Given the description of an element on the screen output the (x, y) to click on. 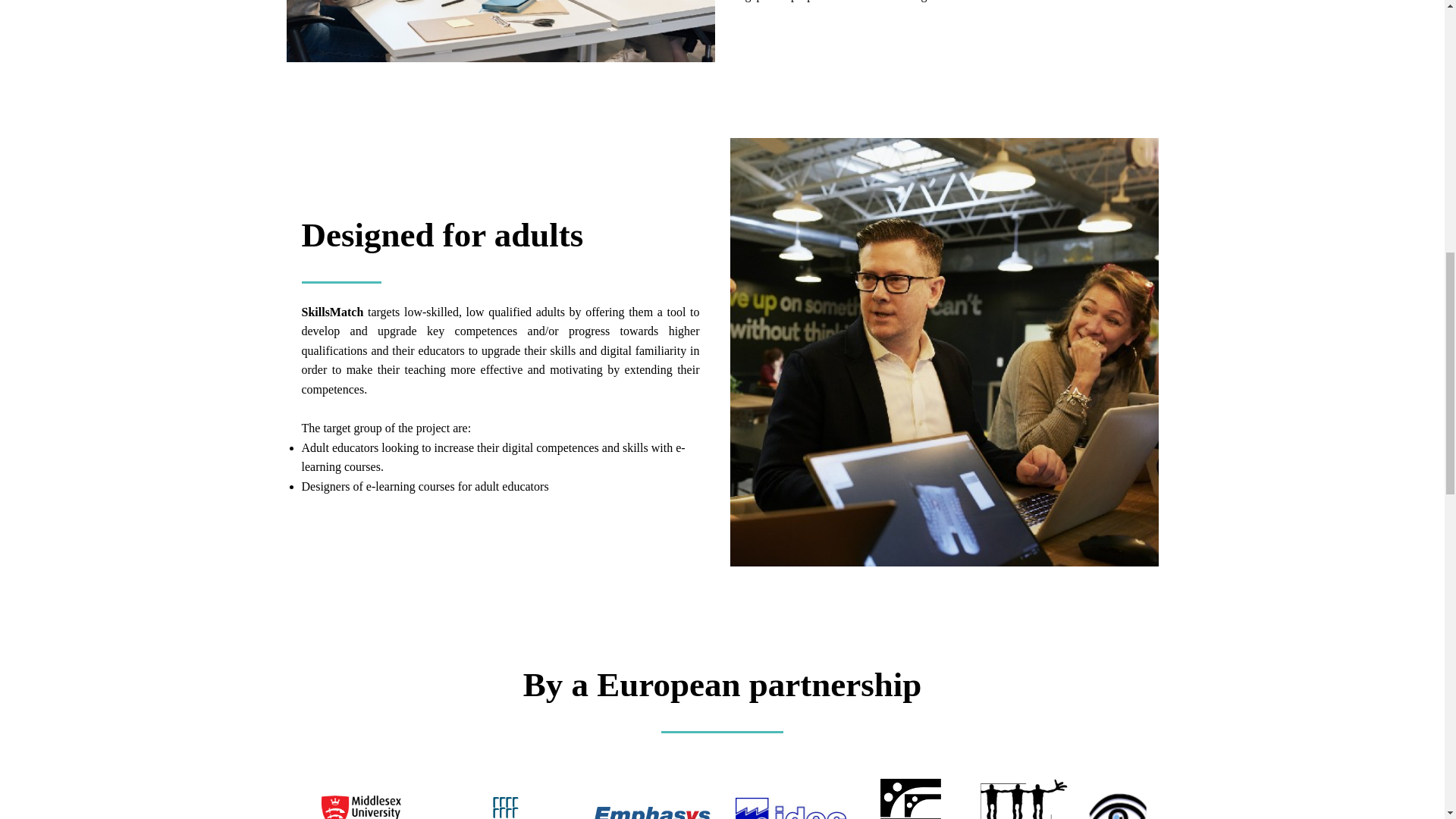
Emphasys-Logo-Final-Transparent Blue (651, 808)
EM-LOGO-PNG (505, 806)
home-img1 (500, 31)
pwlogo.fw (1023, 798)
12. IDEC (790, 808)
